Given the description of an element on the screen output the (x, y) to click on. 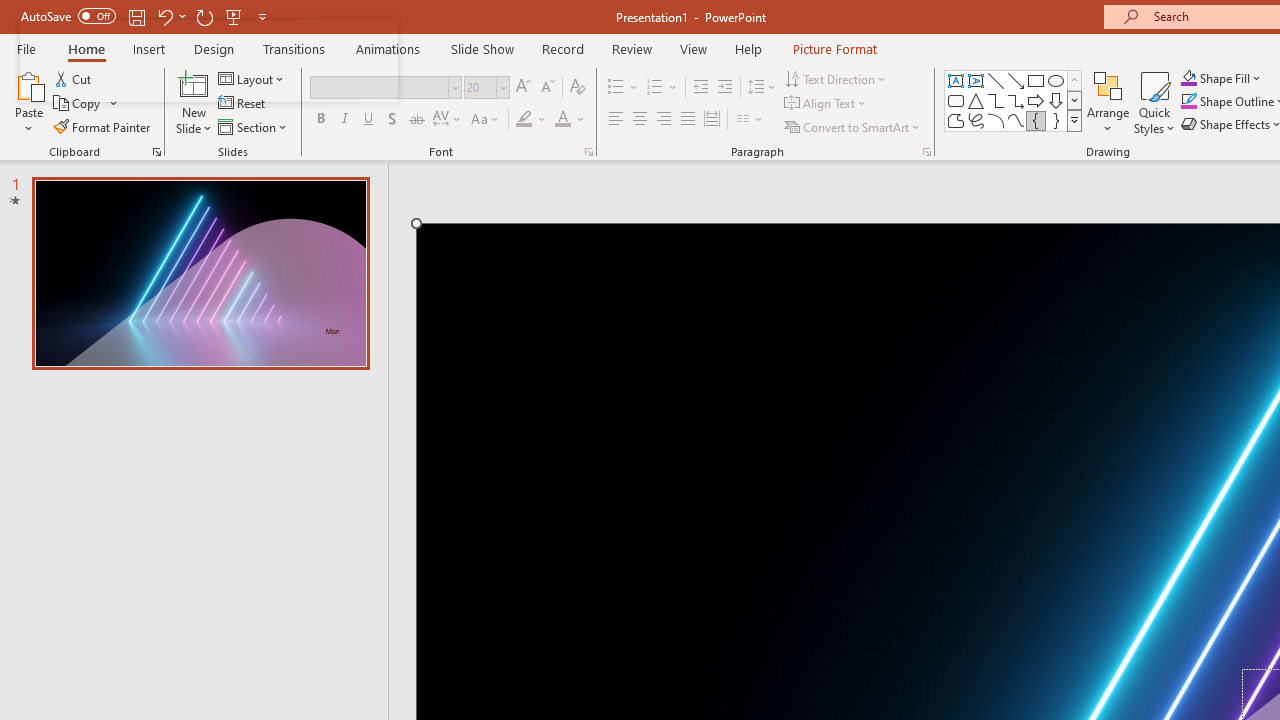
Isosceles Triangle (975, 100)
Row up (1074, 79)
Change Case (486, 119)
Font Color (569, 119)
AutoSave (68, 16)
Quick Access Toolbar (145, 16)
Arc (995, 120)
Review (631, 48)
Right Brace (1055, 120)
Line (995, 80)
New Slide (193, 84)
Rectangle (1035, 80)
